Given the description of an element on the screen output the (x, y) to click on. 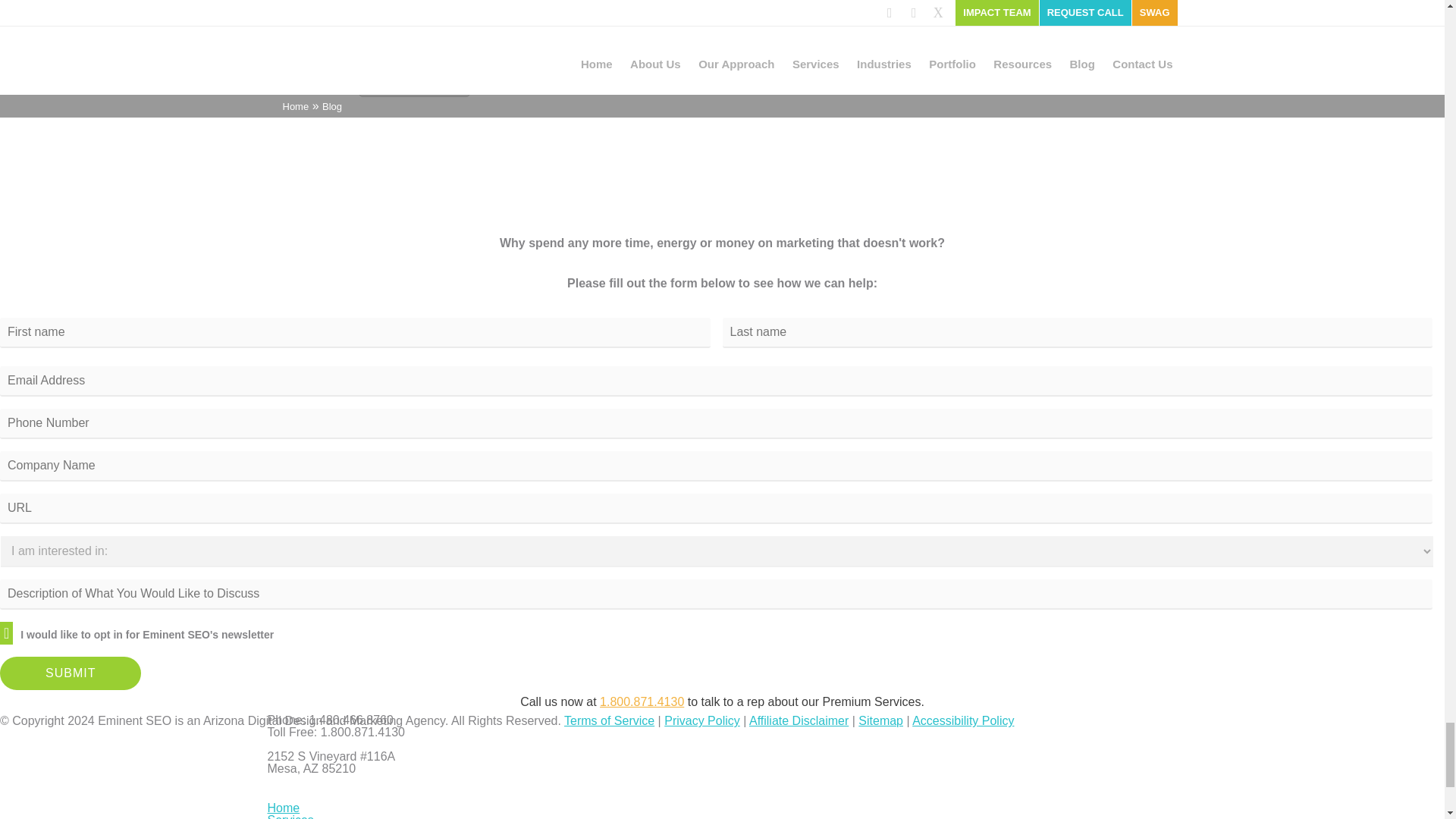
Submit (70, 673)
Post Comment (414, 79)
